Given the description of an element on the screen output the (x, y) to click on. 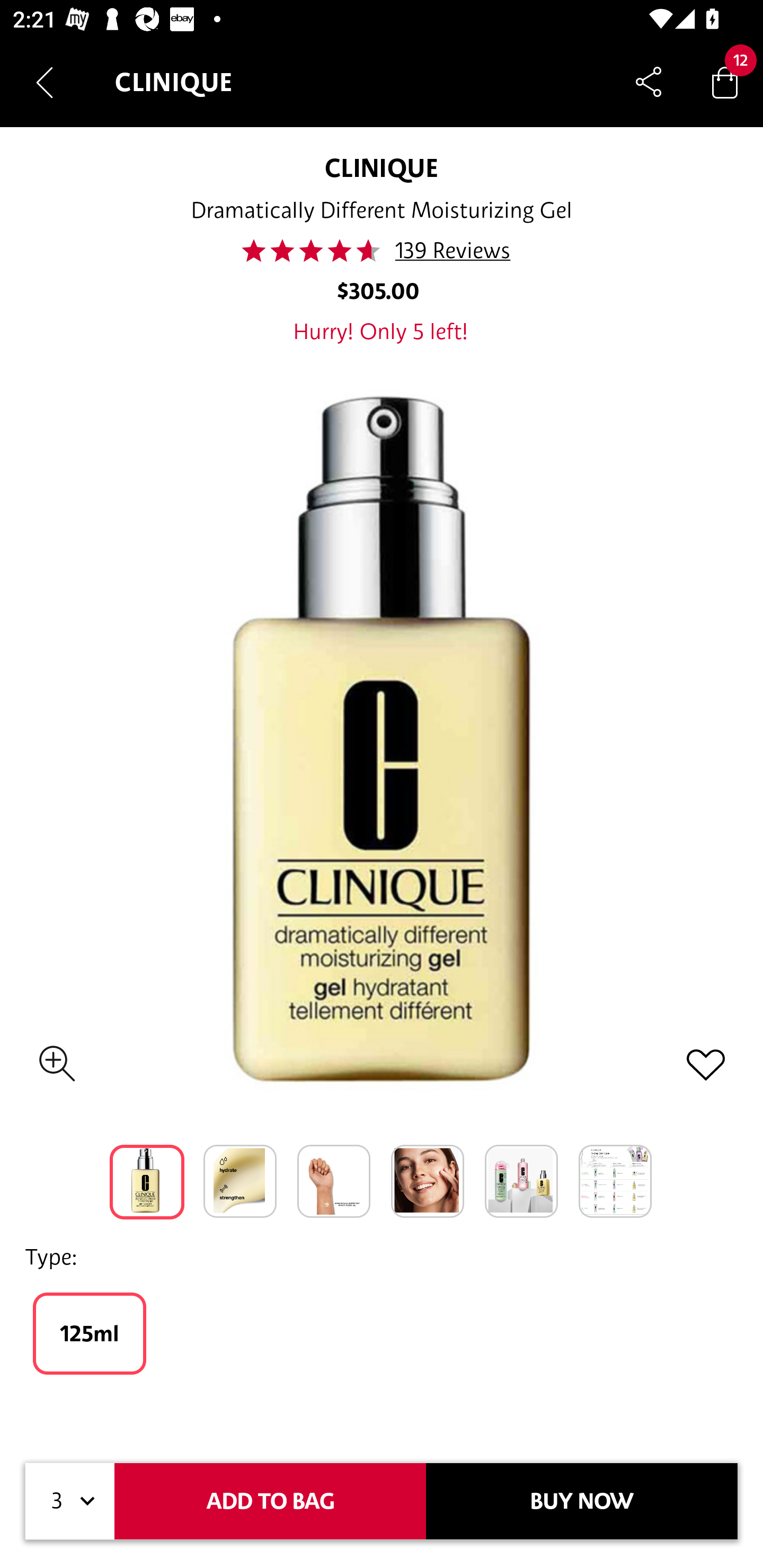
Navigate up (44, 82)
Share (648, 81)
Bag (724, 81)
CLINIQUE (381, 167)
46.0 139 Reviews (381, 250)
125ml (89, 1333)
3 (69, 1500)
ADD TO BAG (269, 1500)
BUY NOW (581, 1500)
